Given the description of an element on the screen output the (x, y) to click on. 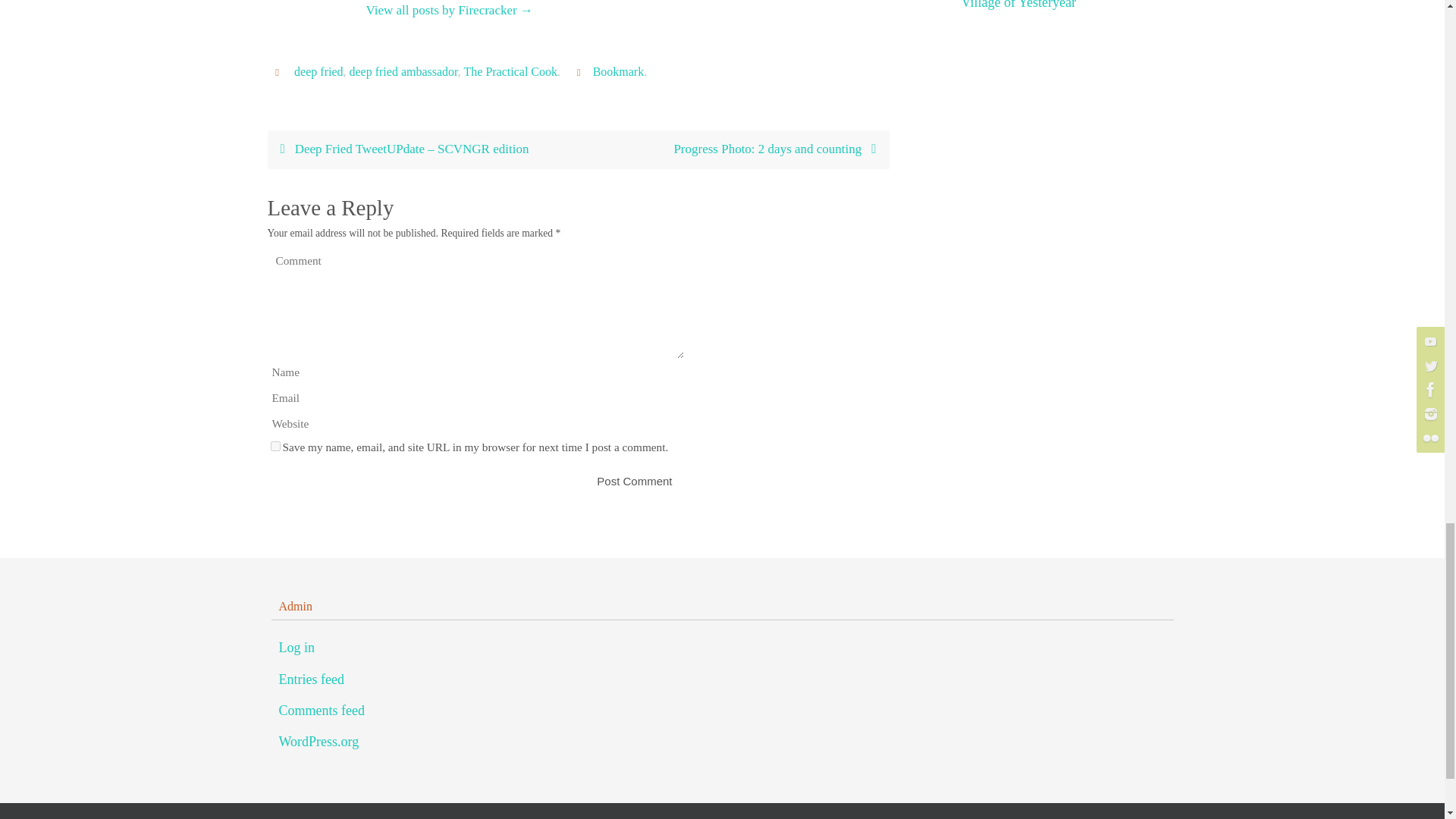
The Practical Cook (510, 71)
Progress Photo: 2 days and counting (733, 149)
deep fried (318, 71)
Bookmark (618, 71)
Post Comment (634, 481)
yes (274, 446)
deep fried ambassador (403, 71)
Post Comment (634, 481)
